Given the description of an element on the screen output the (x, y) to click on. 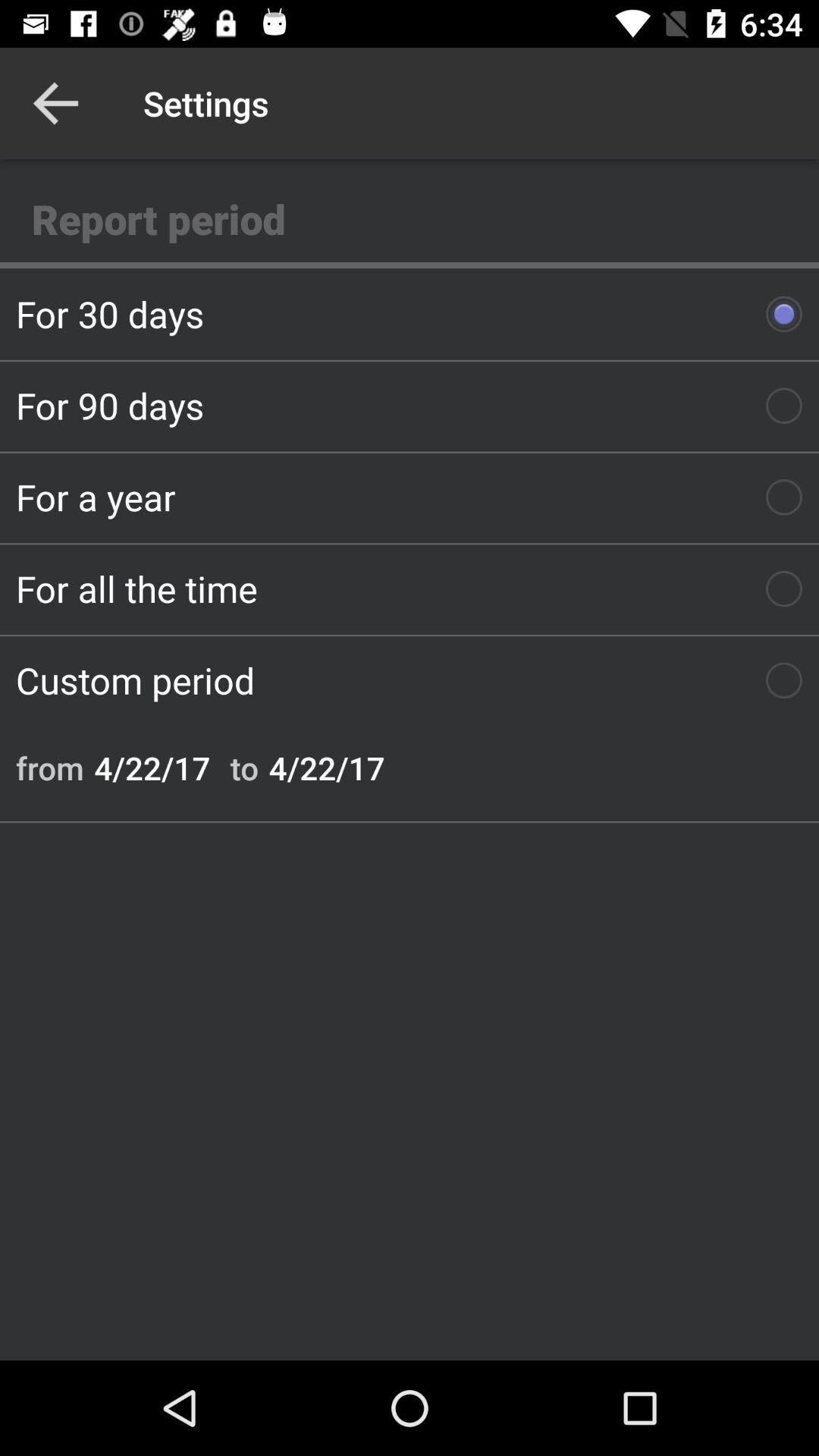
tap item above custom period item (409, 588)
